Given the description of an element on the screen output the (x, y) to click on. 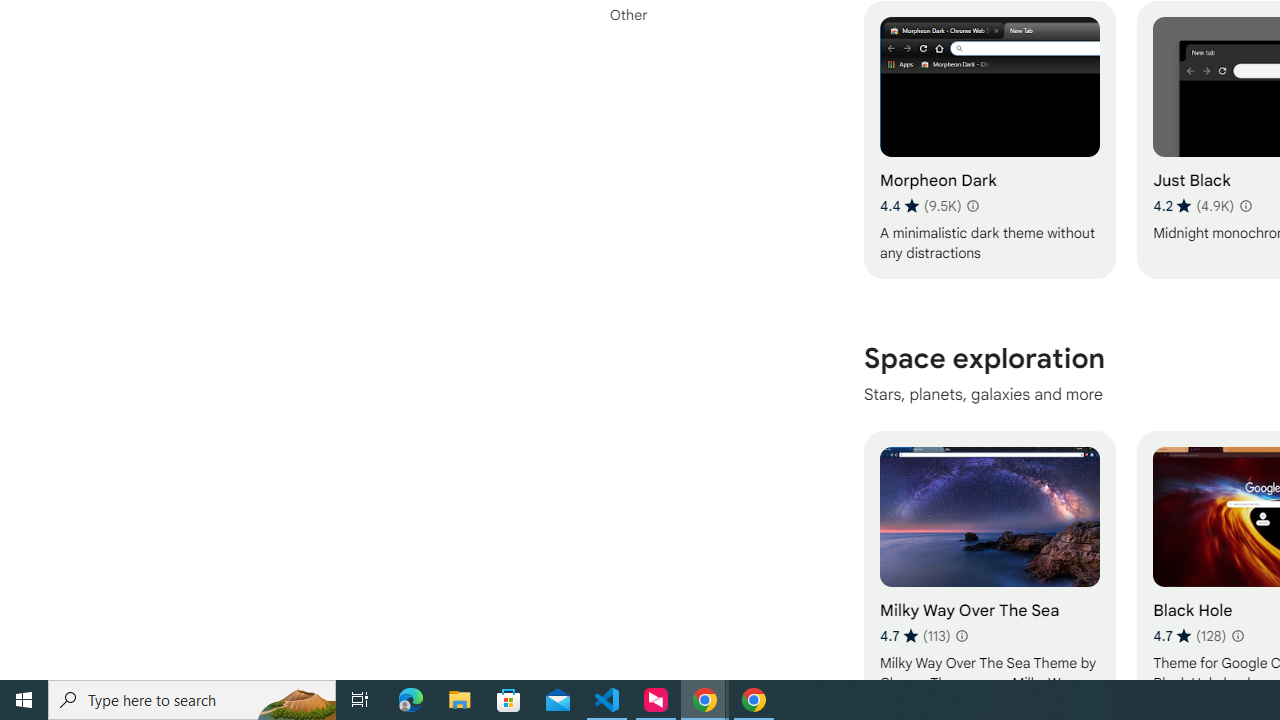
Milky Way Over The Sea (989, 570)
Learn more about results and reviews "Black Hole" (1236, 636)
Learn more about results and reviews "Just Black" (1244, 205)
Average rating 4.7 out of 5 stars. 128 ratings. (1189, 635)
Average rating 4.2 out of 5 stars. 4.9K ratings. (1192, 205)
Morpheon Dark (989, 139)
Average rating 4.4 out of 5 stars. 9.5K ratings. (920, 205)
Average rating 4.7 out of 5 stars. 113 ratings. (915, 635)
Learn more about results and reviews "Morpheon Dark" (971, 205)
